Given the description of an element on the screen output the (x, y) to click on. 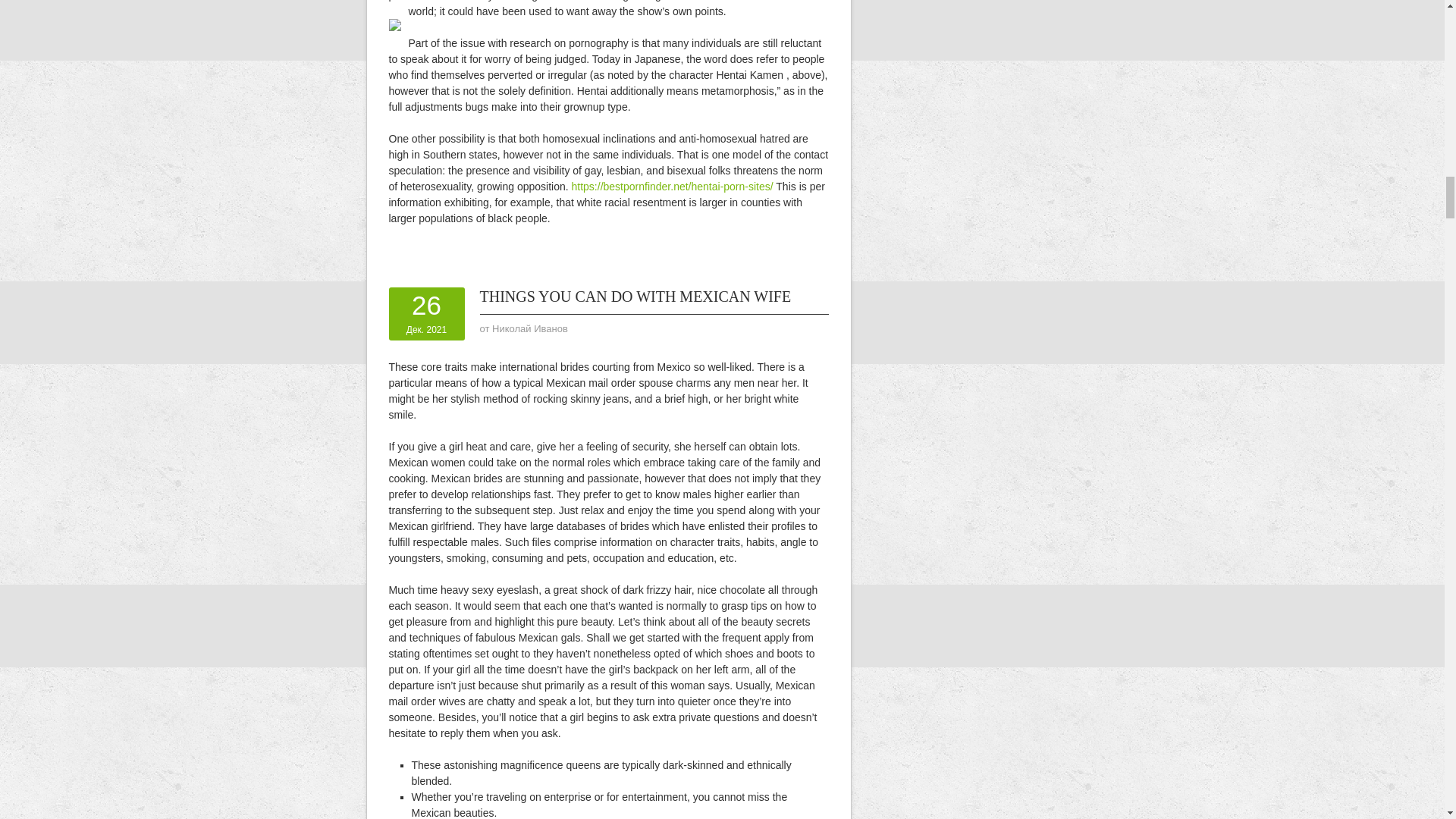
Permalink to Things You Can Do With Mexican Wife (634, 296)
26.12.2021 22:10 (426, 313)
THINGS YOU CAN DO WITH MEXICAN WIFE (634, 296)
